Given the description of an element on the screen output the (x, y) to click on. 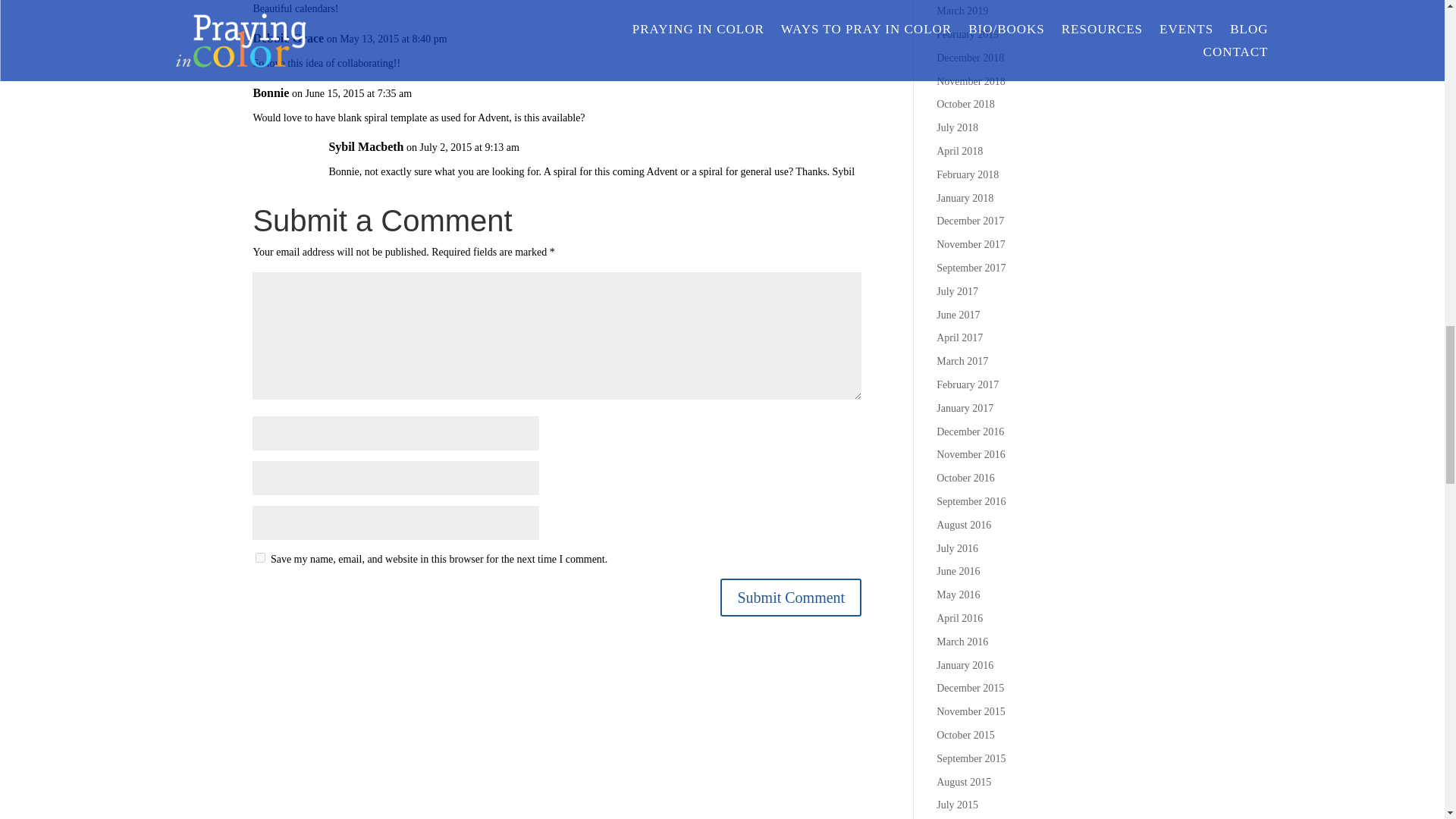
yes (260, 557)
